Given the description of an element on the screen output the (x, y) to click on. 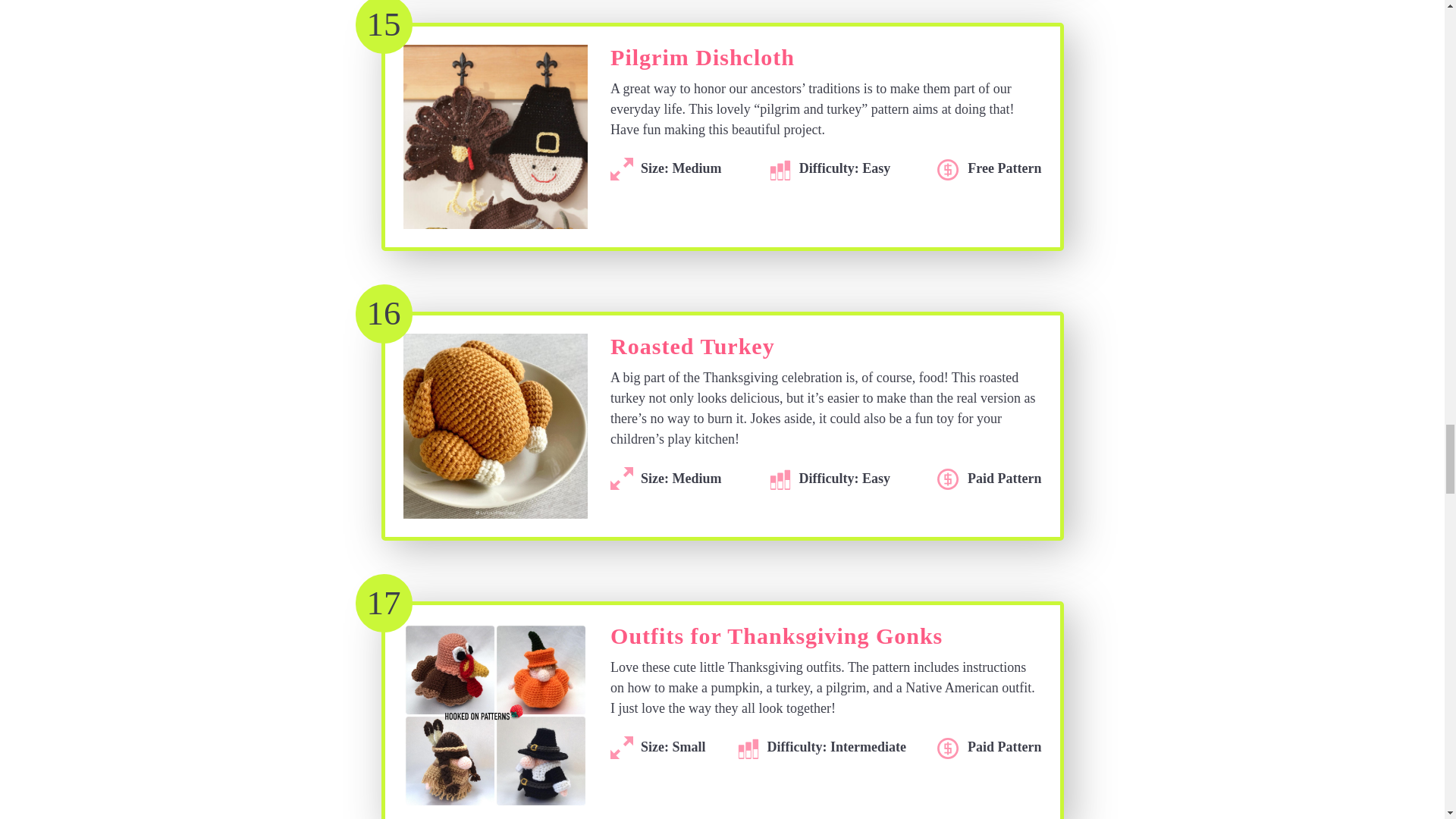
Roasted Turkey (692, 350)
Outfits for Thanksgiving Gonks (776, 640)
Pilgrim Dishcloth (702, 60)
